Given the description of an element on the screen output the (x, y) to click on. 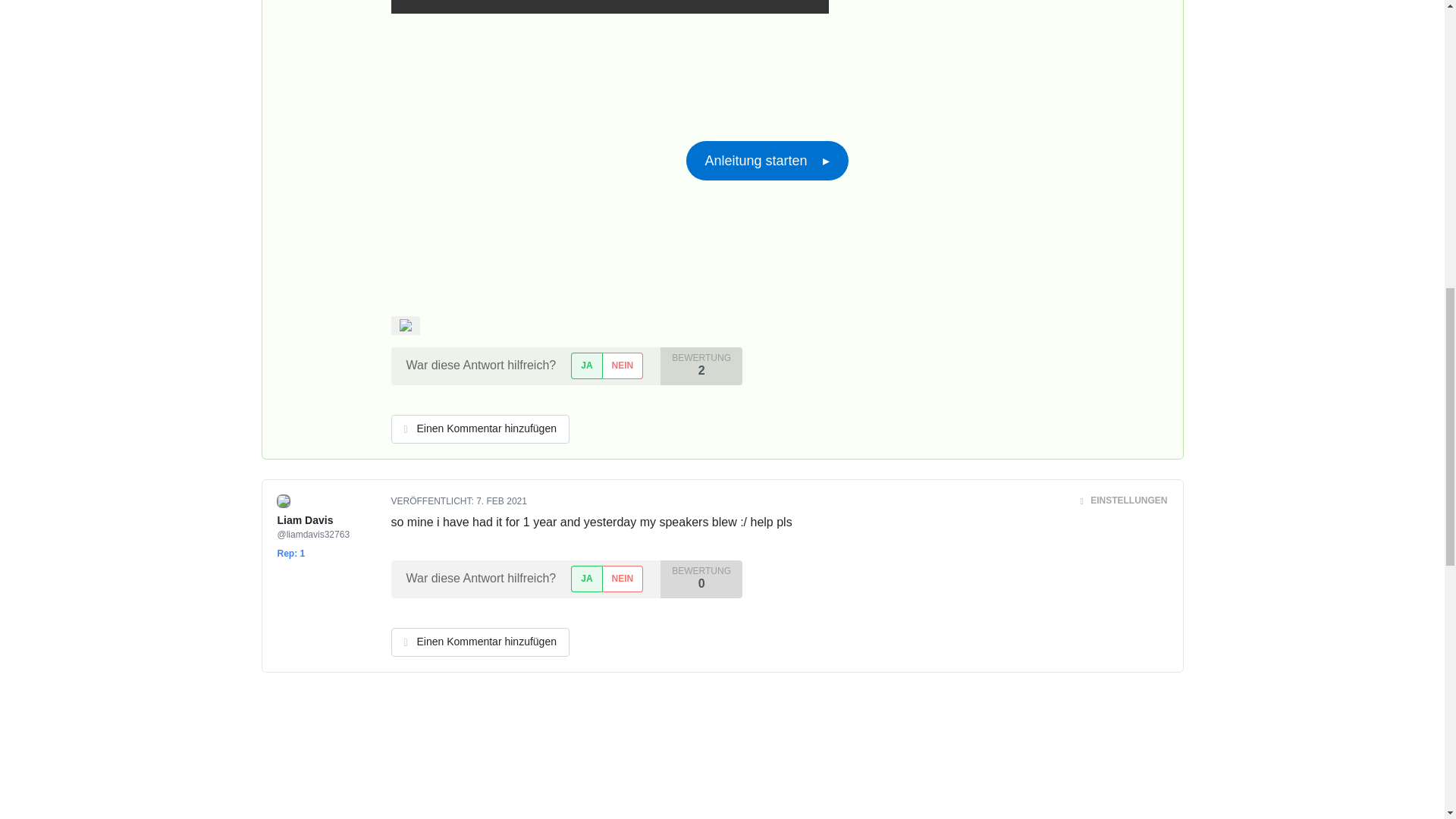
Sun, 07 Feb 2021 04:54:09 -0700 (501, 501)
JA (585, 365)
NEIN (622, 365)
